Given the description of an element on the screen output the (x, y) to click on. 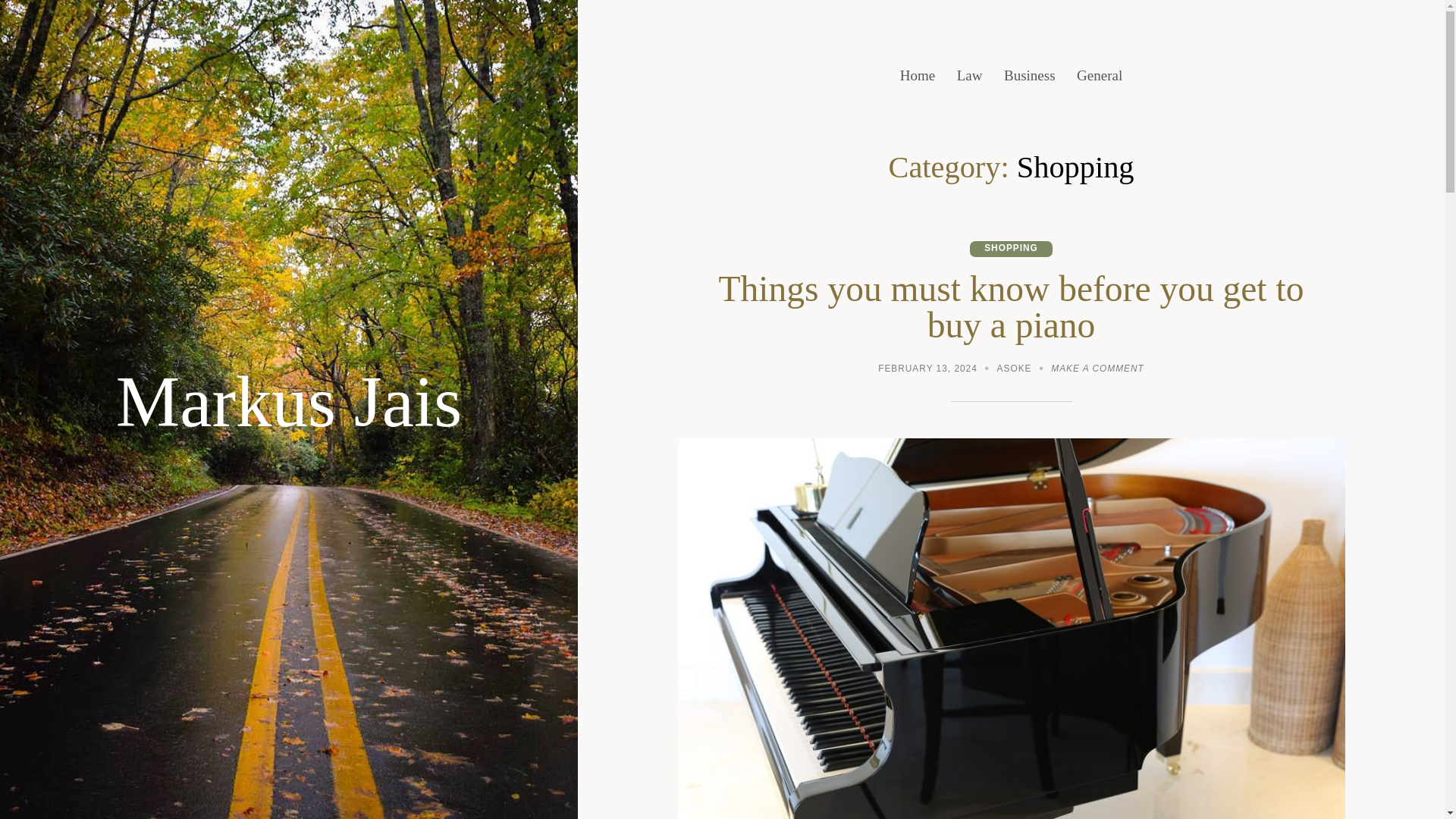
Business (1029, 76)
Things you must know before you get to buy a piano (1011, 306)
Markus Jais (289, 402)
ASOKE (1014, 370)
FEBRUARY 13, 2024 (926, 370)
SHOPPING (1010, 248)
General (1099, 76)
Home (916, 76)
